Given the description of an element on the screen output the (x, y) to click on. 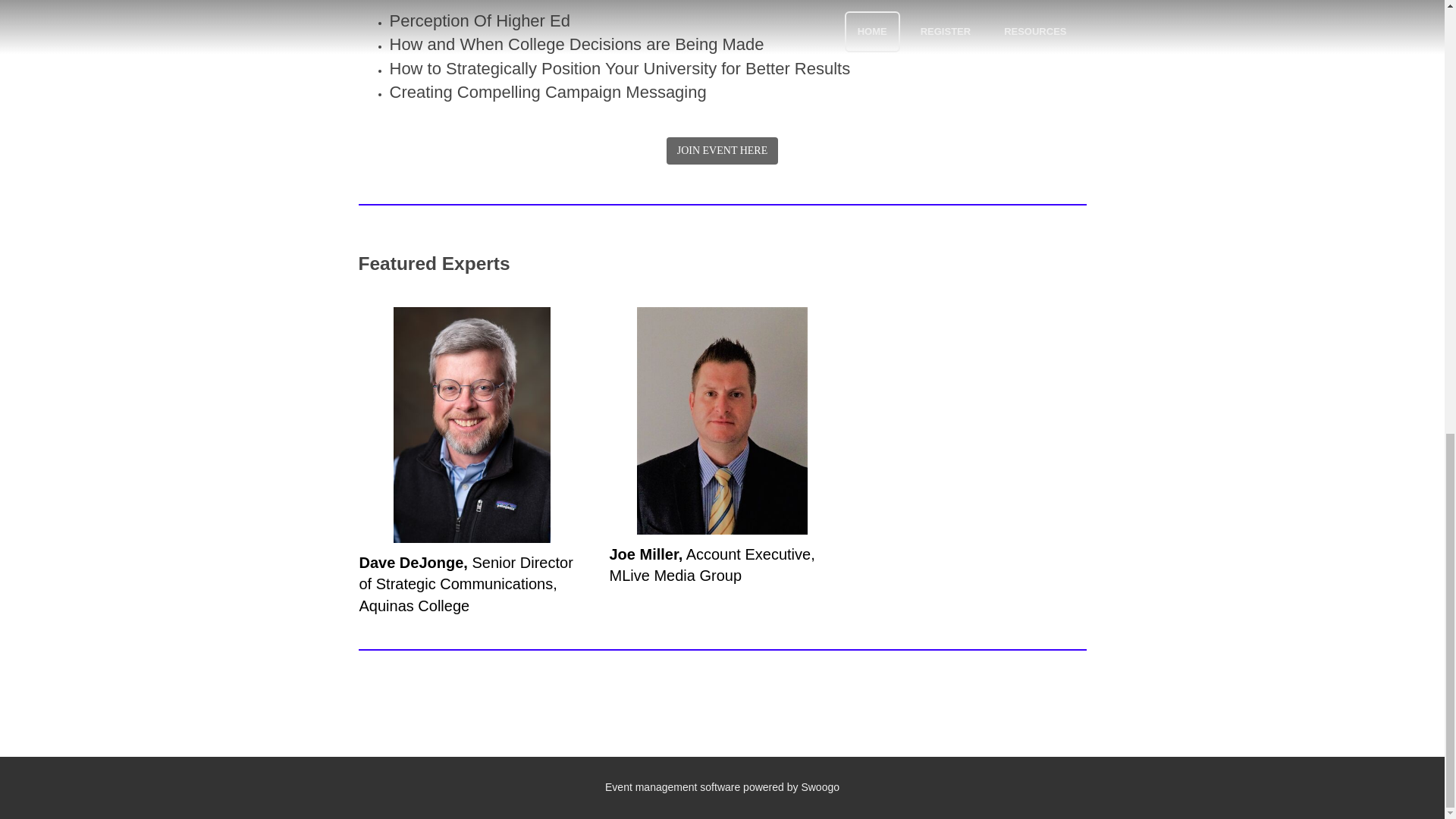
Joe Miller, Account Executive, MLive Media Group (710, 565)
Swoogo (820, 787)
JOIN EVENT HERE (722, 150)
